Given the description of an element on the screen output the (x, y) to click on. 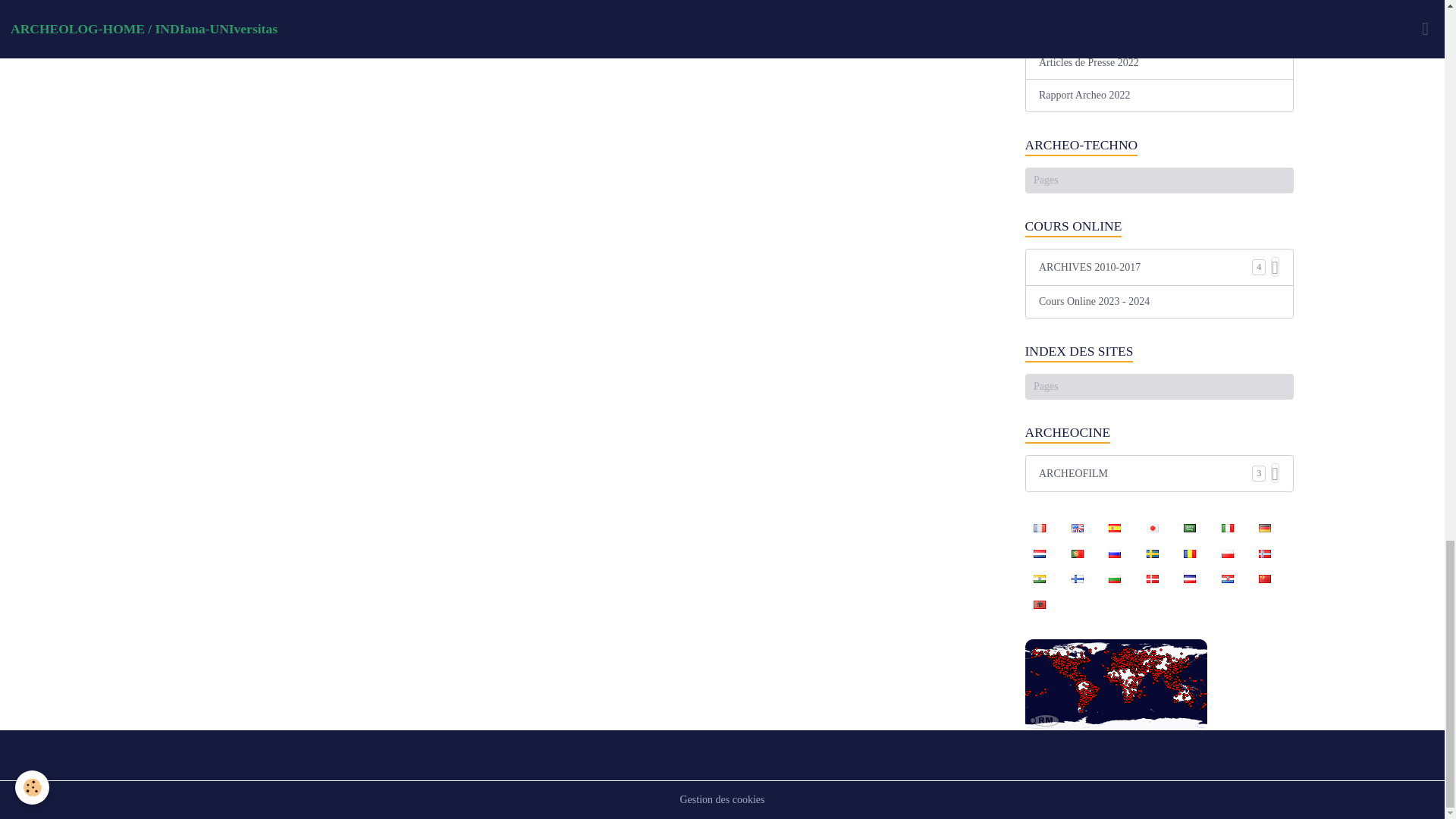
Danish (1152, 578)
Bulgarian (1114, 578)
Swedish (1152, 552)
Czech (1189, 578)
Nederlands (1039, 552)
English (1077, 527)
Deutsch (1264, 527)
Hindi (1039, 578)
Portuguesa (1077, 552)
Russian (1114, 552)
Romanian (1189, 552)
Norwegian (1264, 552)
Arabic (1189, 527)
Japanese (1152, 527)
Finnish (1077, 578)
